Given the description of an element on the screen output the (x, y) to click on. 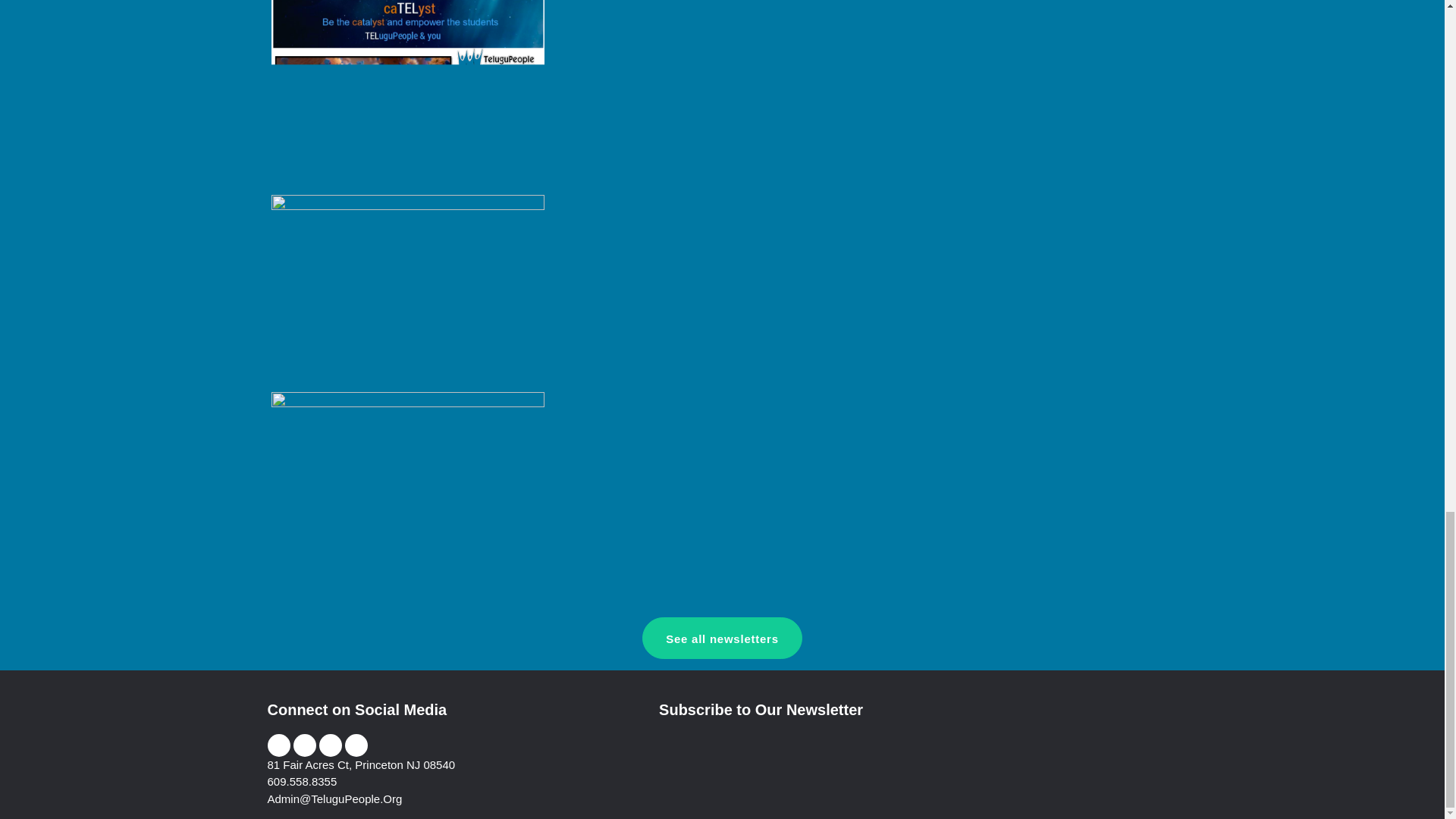
Winter '19 (407, 287)
Winter '20 (407, 93)
Winter '20 (407, 86)
Winter '19 (407, 289)
